Given the description of an element on the screen output the (x, y) to click on. 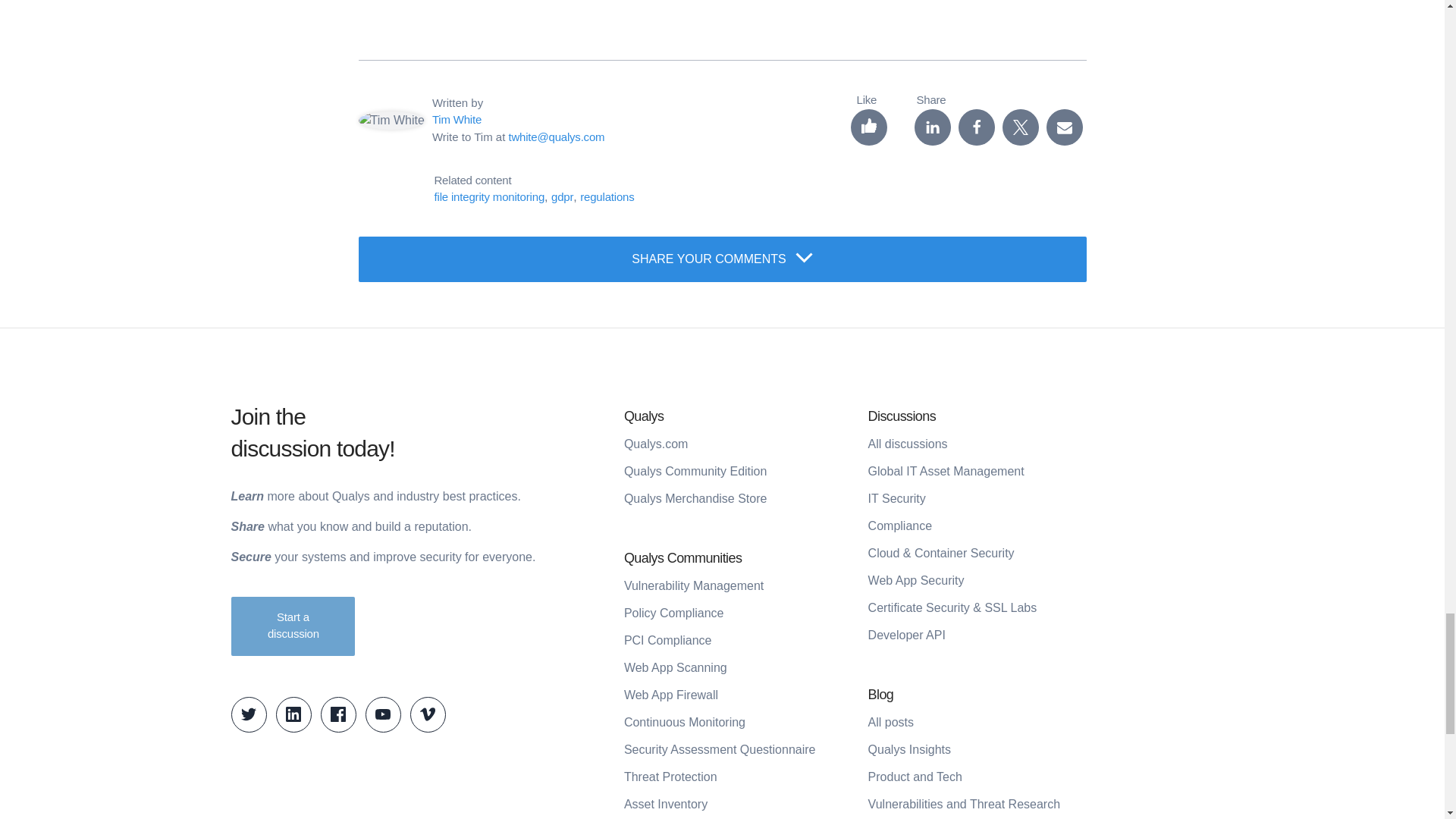
Send by email (1064, 126)
Tim White (456, 119)
Share on Facebook (976, 126)
Share on LinkedIn (932, 126)
Share on X (1021, 126)
